Given the description of an element on the screen output the (x, y) to click on. 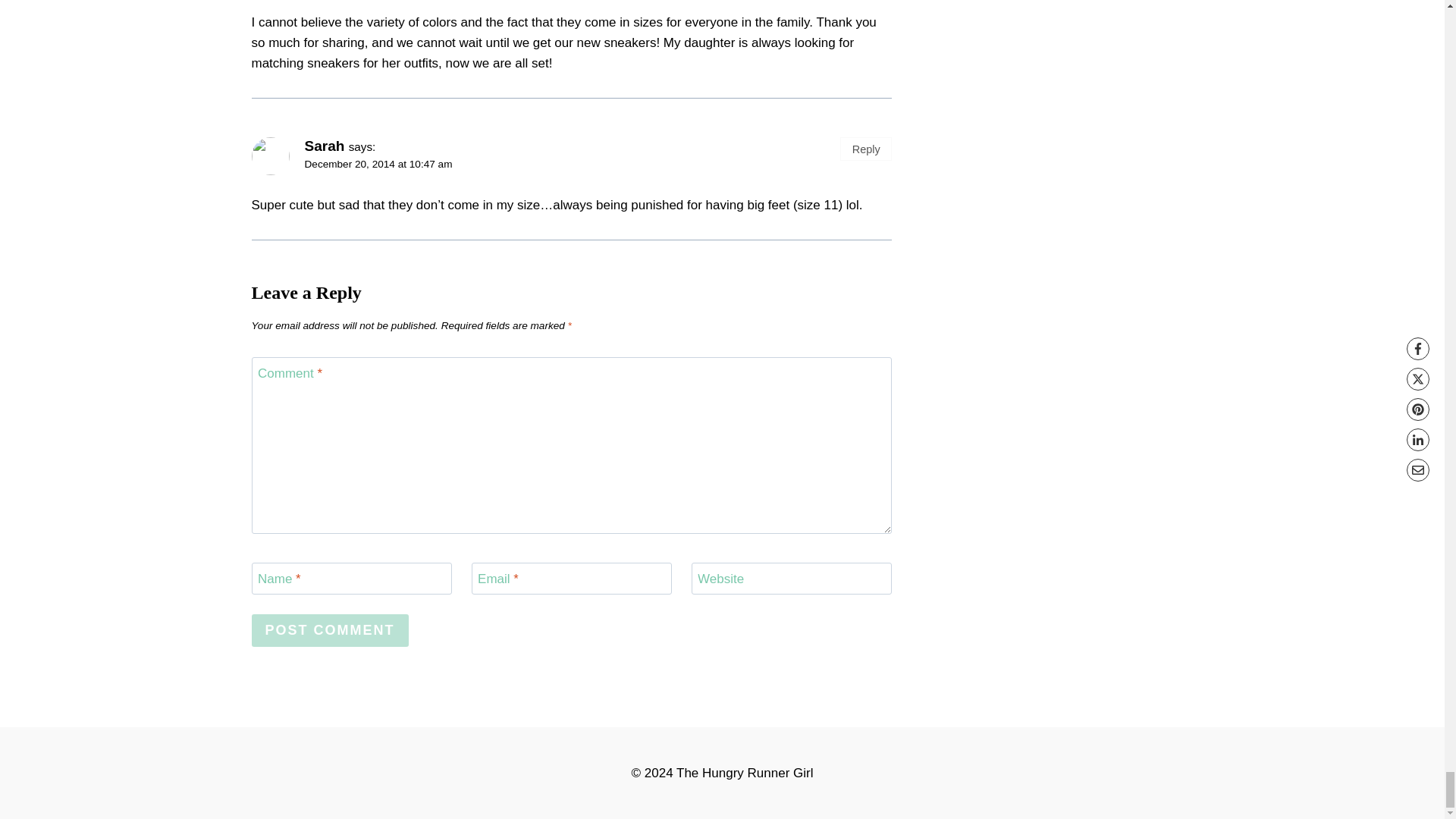
Post Comment (330, 630)
